Given the description of an element on the screen output the (x, y) to click on. 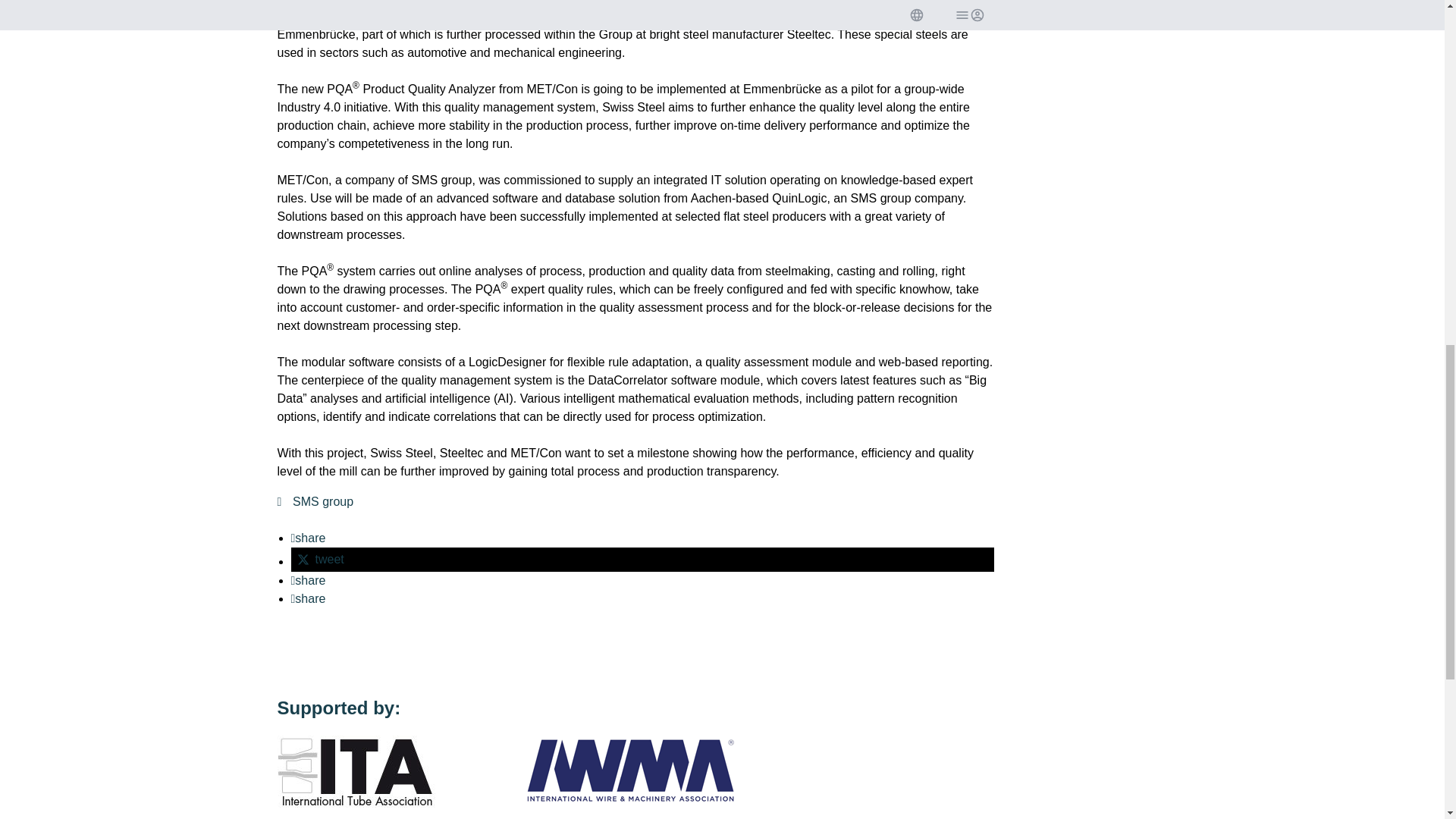
tweet (642, 559)
share (308, 598)
SMS group (315, 502)
Share on XING (308, 598)
Share on LinkedIn (308, 580)
share (308, 537)
share (308, 580)
Share on Facebook (308, 537)
Share on Twitter (642, 559)
